Given the description of an element on the screen output the (x, y) to click on. 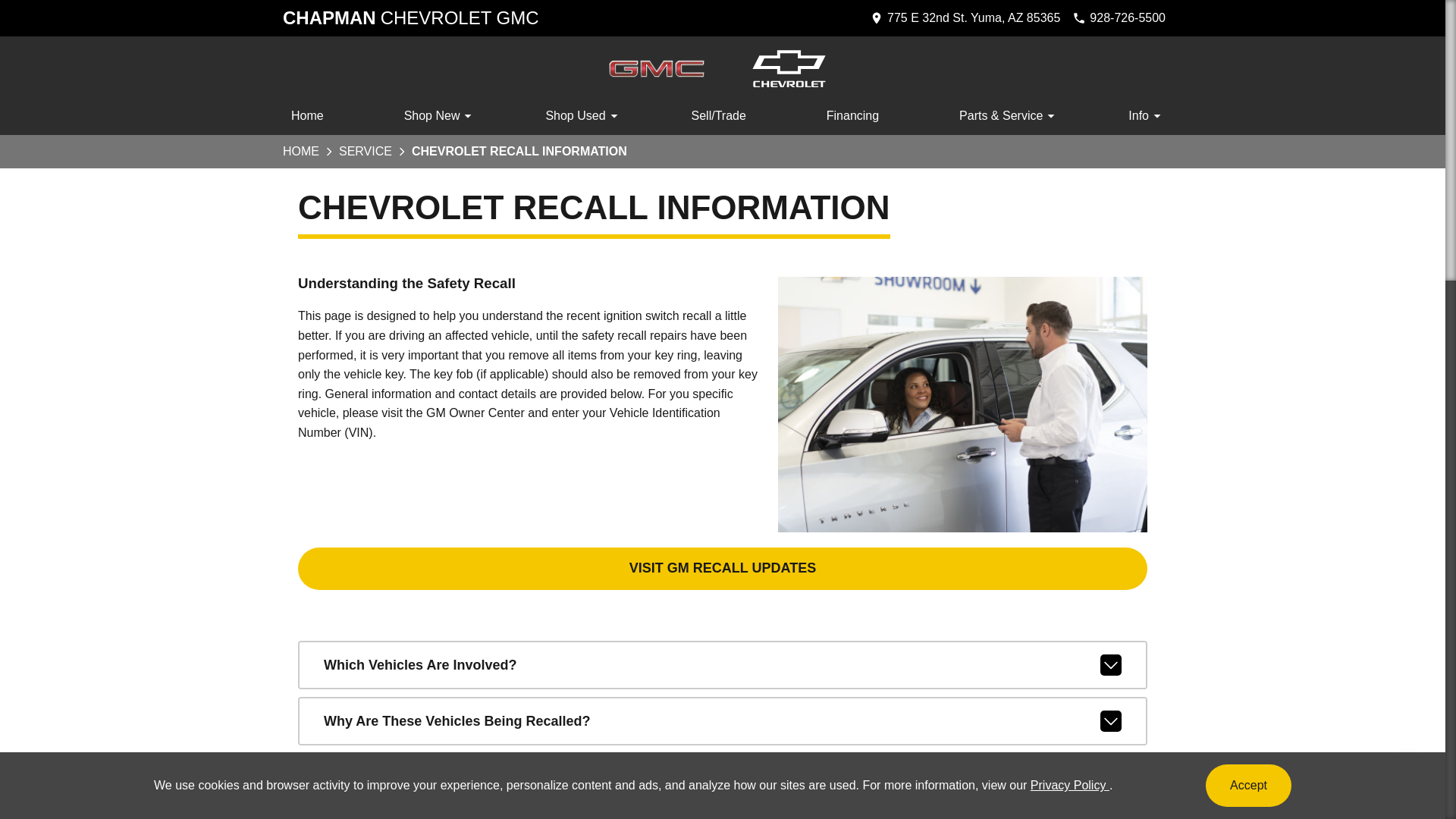
775 E 32nd St. Yuma, AZ 85365 (409, 18)
show chat (964, 18)
928-726-5500 (1408, 782)
Home (1118, 18)
Shop New (306, 118)
